Given the description of an element on the screen output the (x, y) to click on. 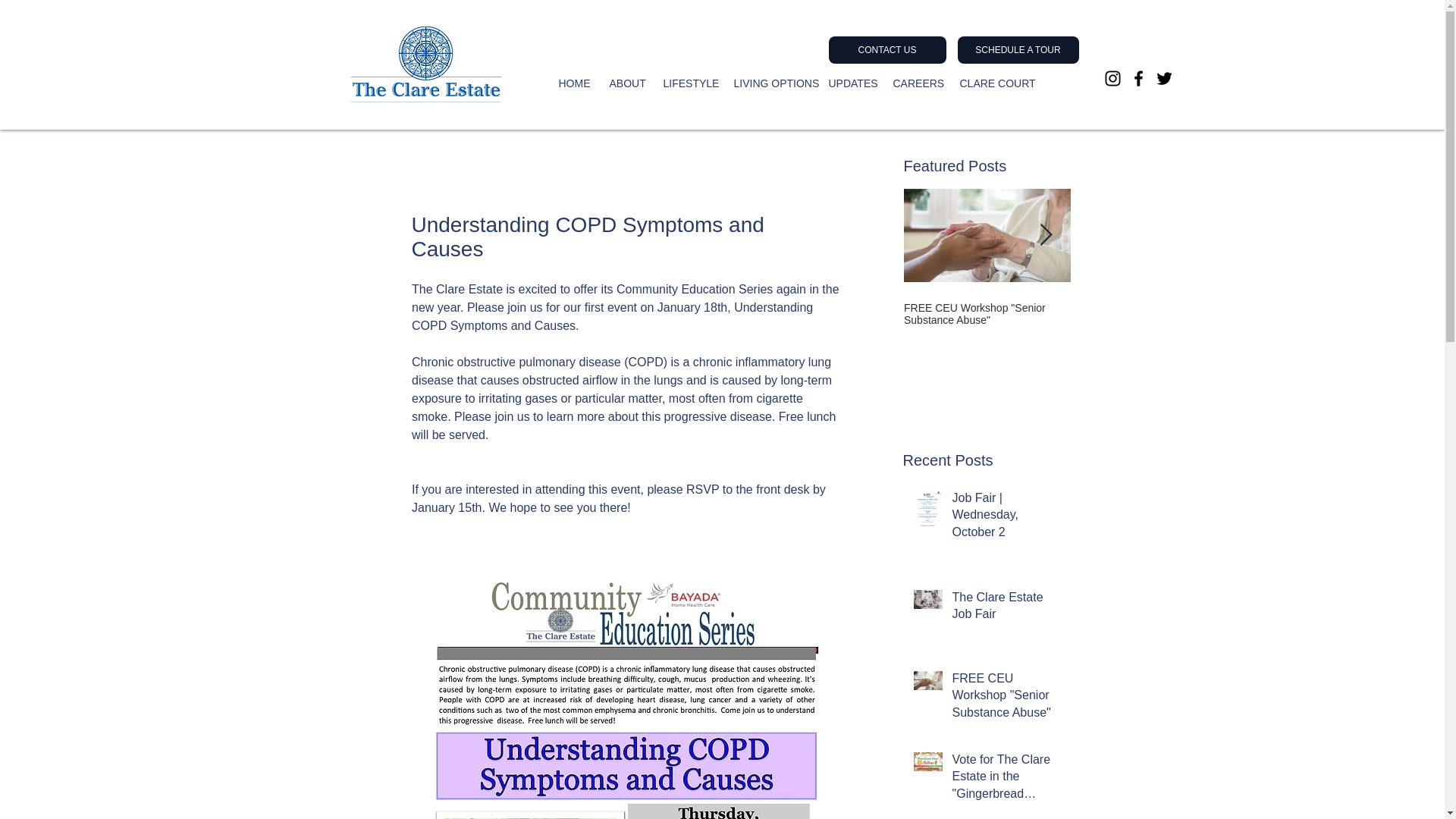
HOME (572, 82)
UPDATES (849, 82)
CAREERS (913, 82)
ABOUT (623, 82)
LIVING OPTIONS (769, 82)
LIFESTYLE (687, 82)
CONTACT US (886, 49)
The Clare Estate Job Fair (1006, 608)
CLARE COURT (991, 82)
FREE CEU Workshop "Senior Substance Abuse" (1006, 698)
SCHEDULE A TOUR (1017, 49)
FREE CEU Workshop "Senior Substance Abuse" (987, 313)
